Given the description of an element on the screen output the (x, y) to click on. 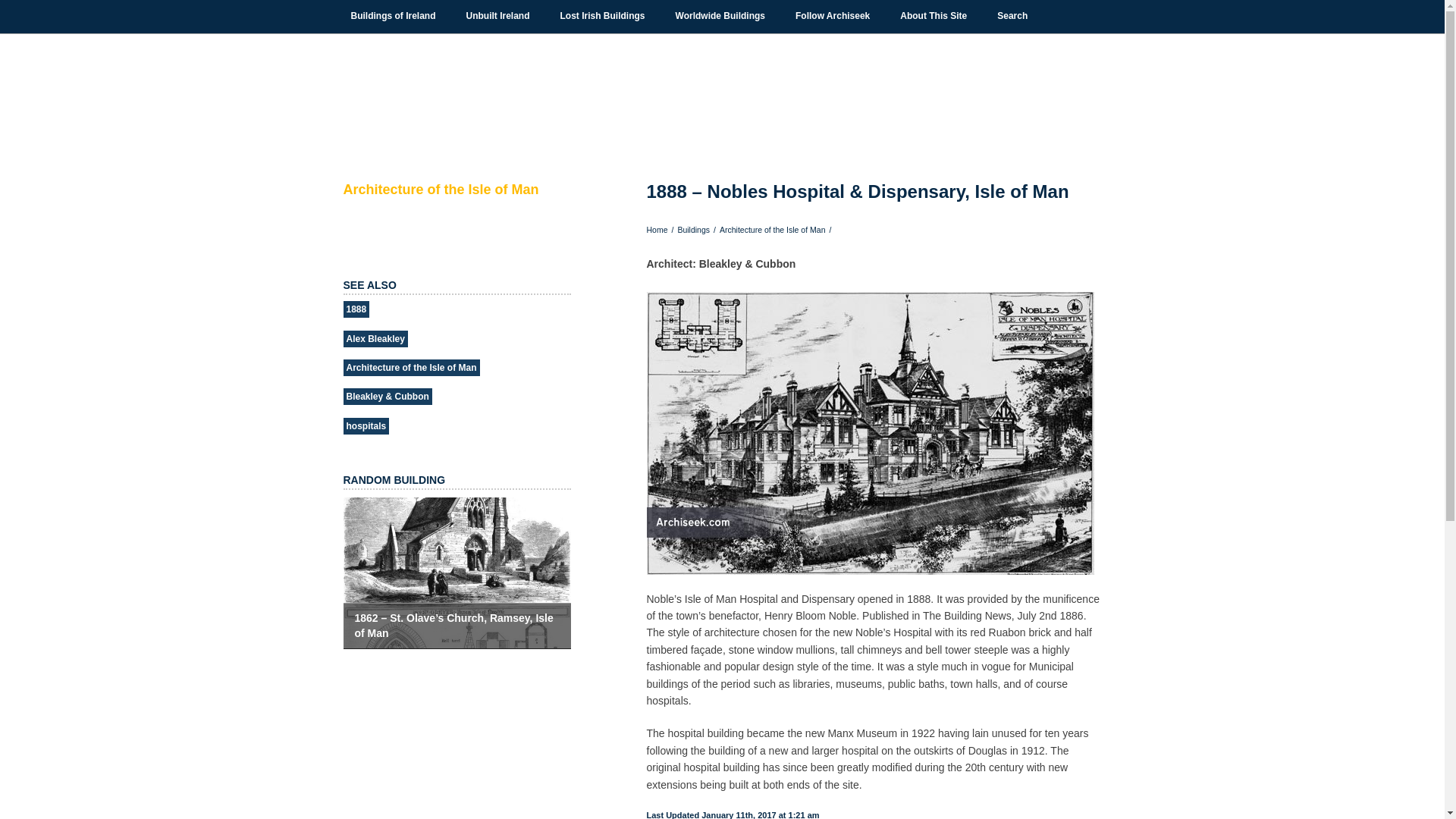
Buildings of Ireland (392, 16)
Worldwide Buildings (720, 16)
Lost Buildings of Ireland (602, 16)
Unbuilt Ireland (497, 16)
Buildings of Ireland (392, 16)
